Given the description of an element on the screen output the (x, y) to click on. 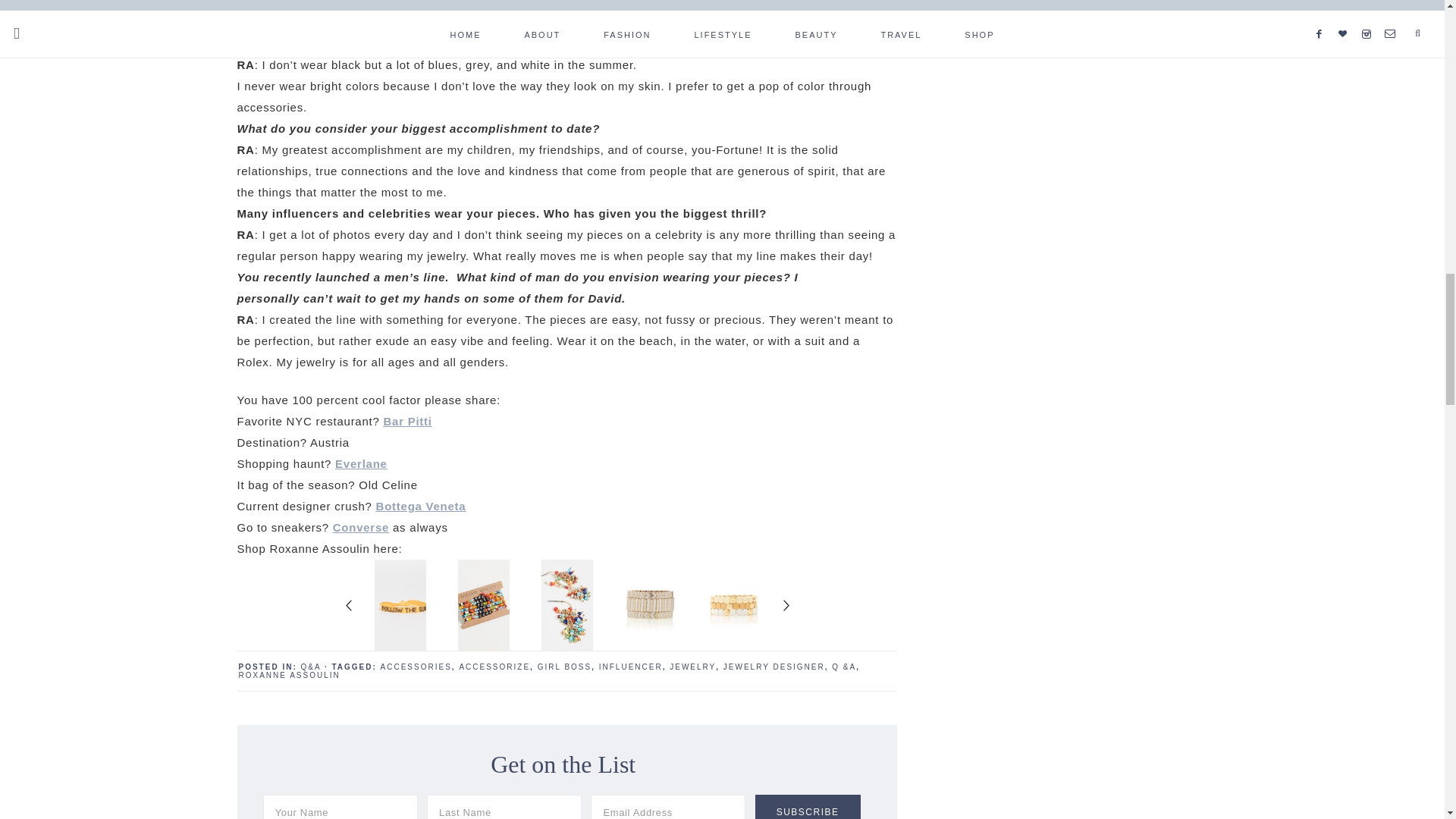
Subscribe (807, 806)
